Given the description of an element on the screen output the (x, y) to click on. 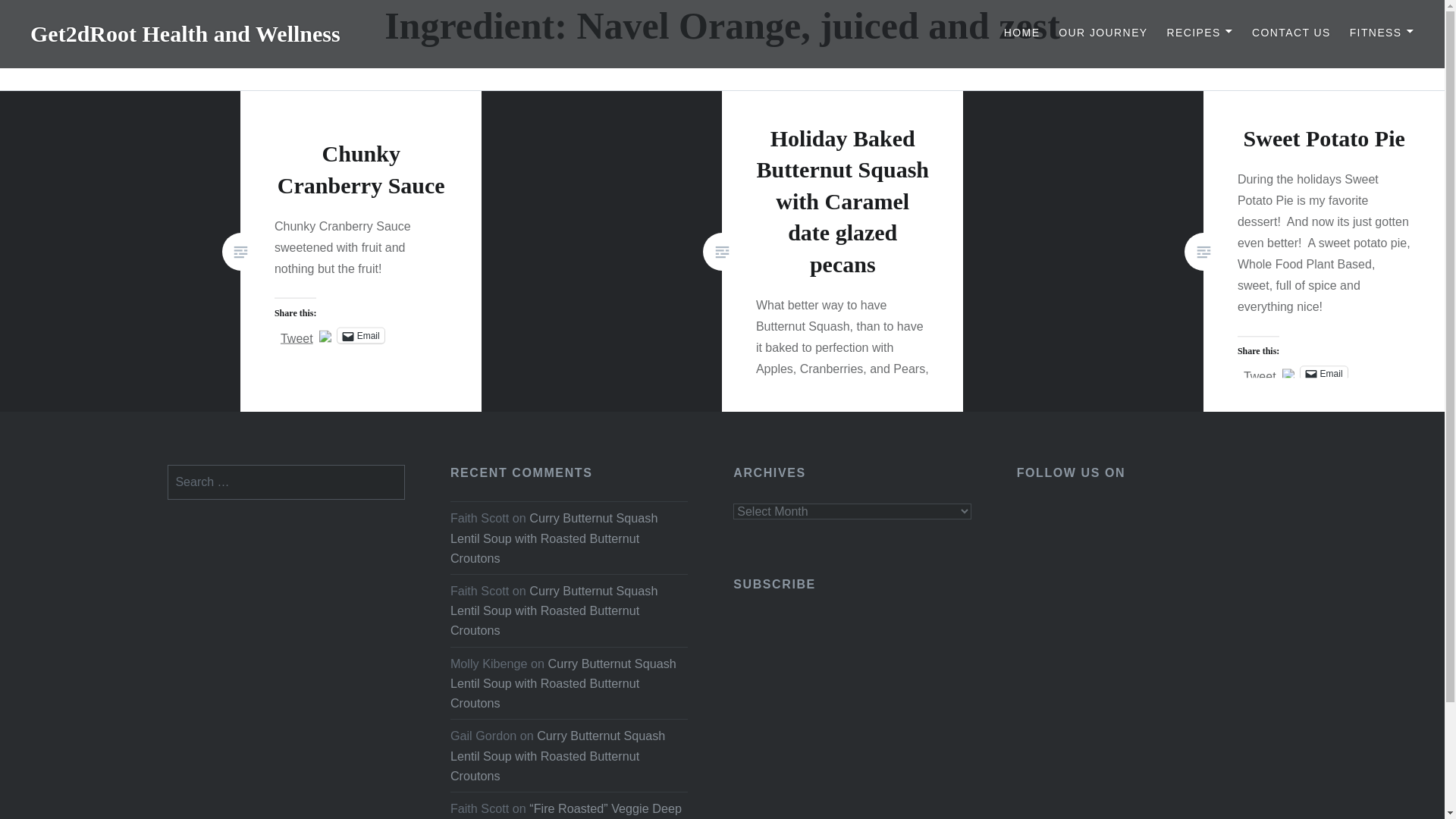
Click to email a link to a friend (360, 335)
Click to email a link to a friend (1324, 373)
Sweet Potato Pie (1324, 138)
Chunky Cranberry Sauce (361, 168)
Email (360, 335)
Tweet (297, 334)
RECIPES (1199, 32)
HOME (1022, 32)
CONTACT US (1291, 32)
FITNESS (1381, 32)
